Given the description of an element on the screen output the (x, y) to click on. 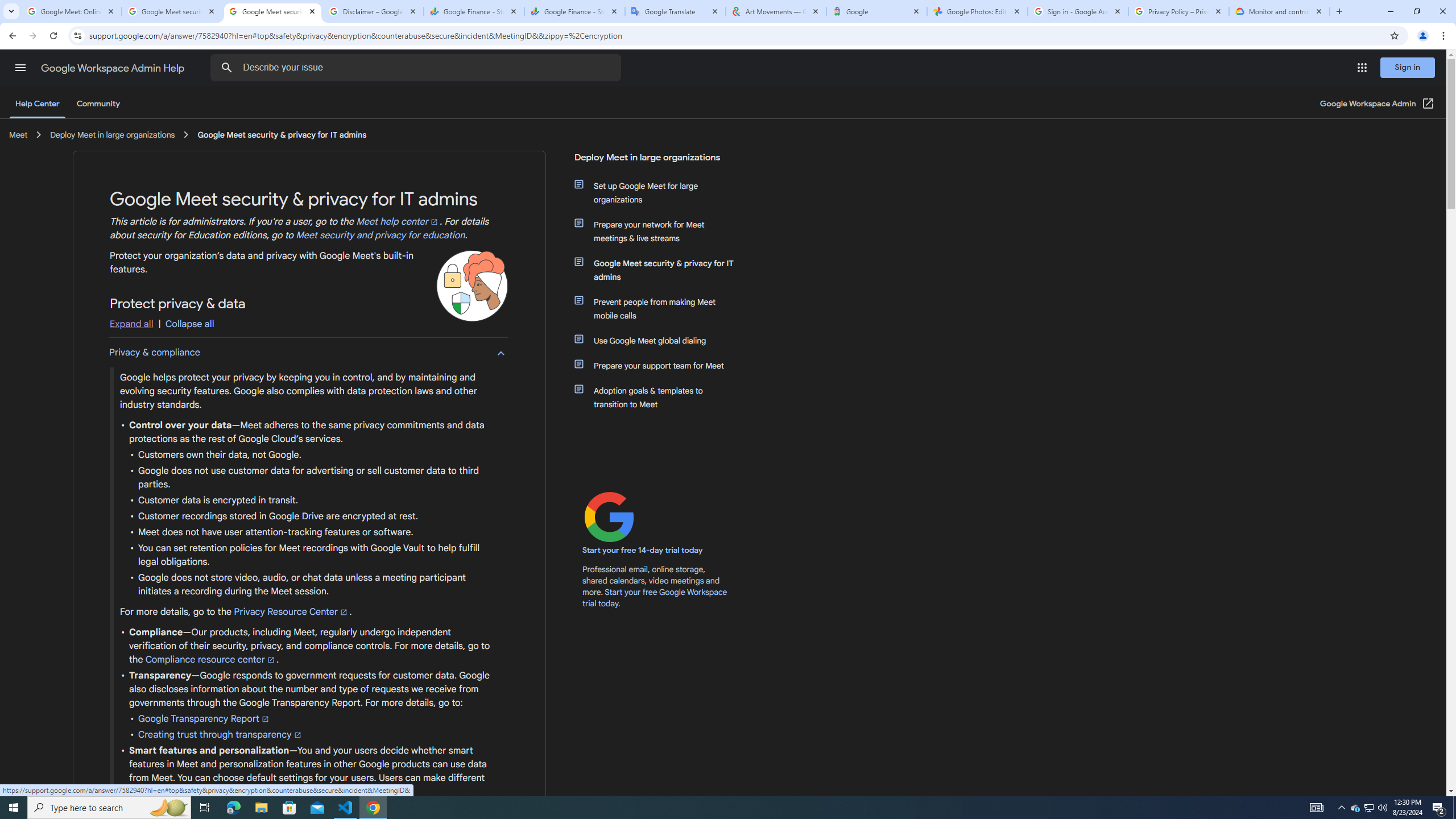
Community (97, 103)
Meet security and privacy for education (380, 235)
Describe your issue (417, 67)
Address and search bar (735, 35)
Sign in - Google Accounts (1078, 11)
Use Google Meet global dialing (661, 340)
Set up Google Meet for large organizations (661, 192)
Main menu (20, 67)
Start your free Google Workspace trial today (655, 597)
Google Meet security & privacy for IT admins (661, 269)
